Given the description of an element on the screen output the (x, y) to click on. 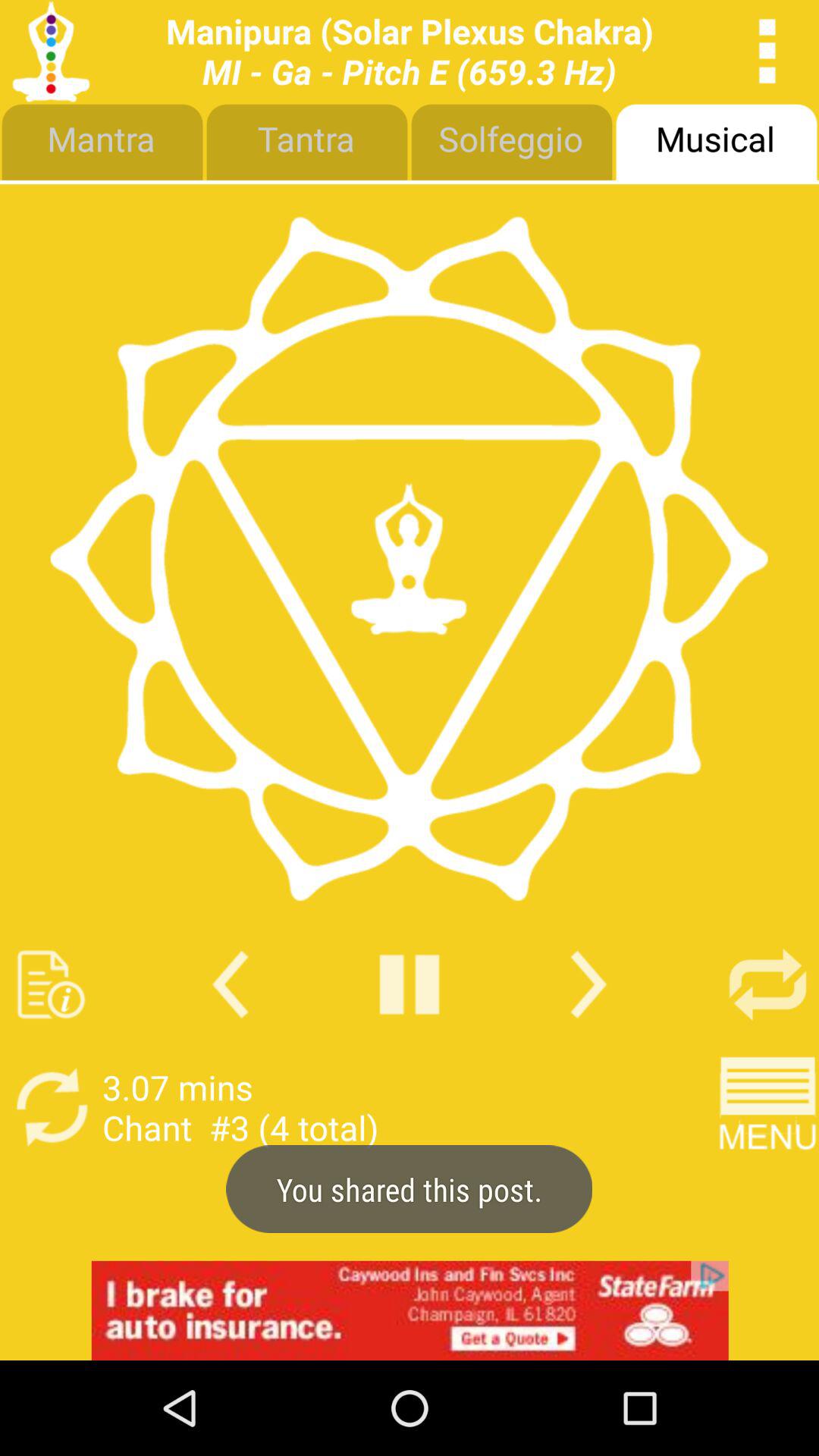
repeat option (767, 984)
